Given the description of an element on the screen output the (x, y) to click on. 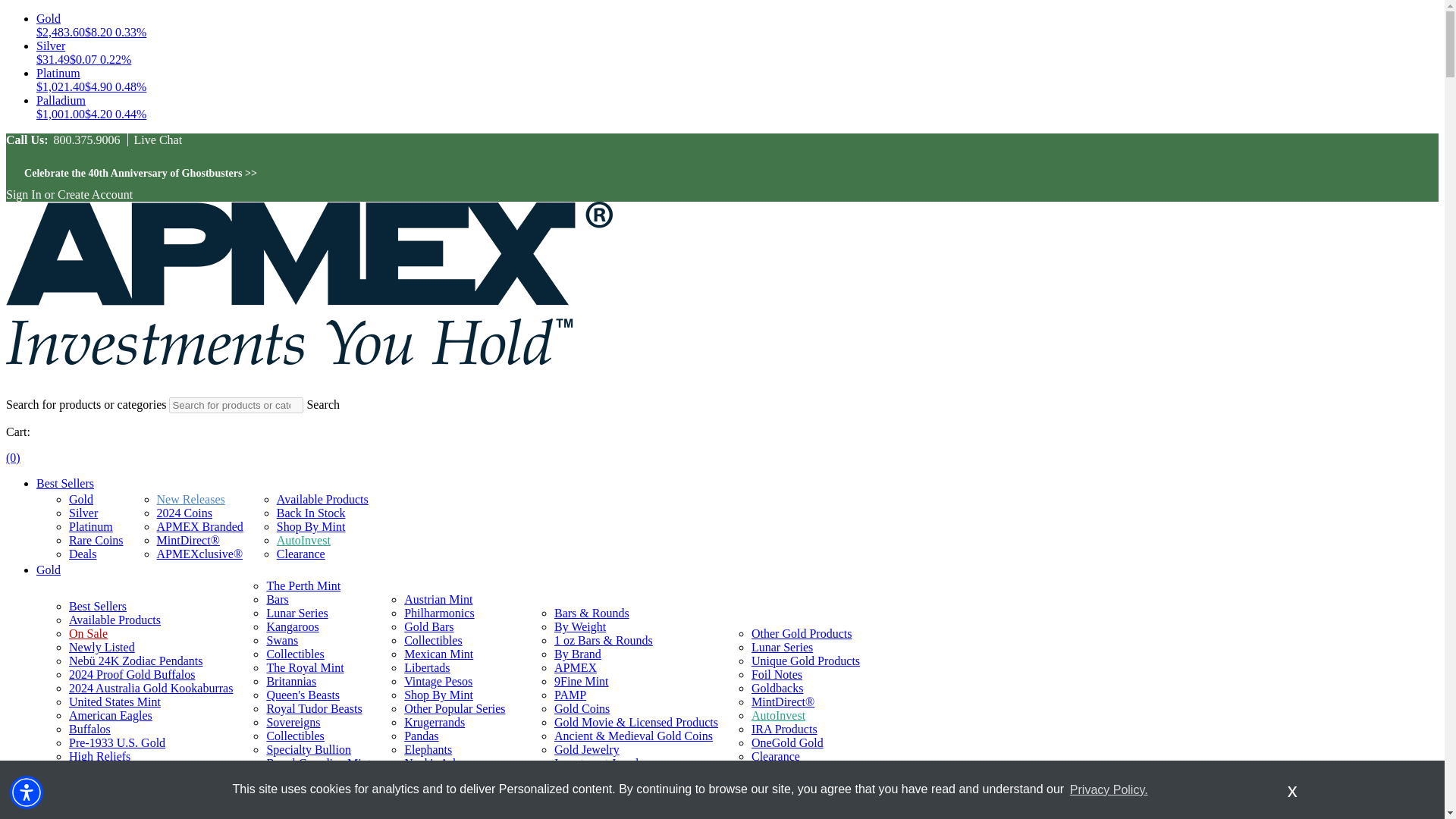
Newly Listed (101, 646)
Privacy Policy. (1108, 789)
800.375.9006 (85, 139)
On Sale (87, 633)
x (1291, 789)
Gold (48, 569)
New Releases (191, 499)
Rare Coins (95, 540)
APMEX Branded (200, 526)
Best Sellers (65, 482)
AutoInvest (303, 540)
Platinum (90, 526)
Silver (82, 512)
Live Chat (155, 139)
